Given the description of an element on the screen output the (x, y) to click on. 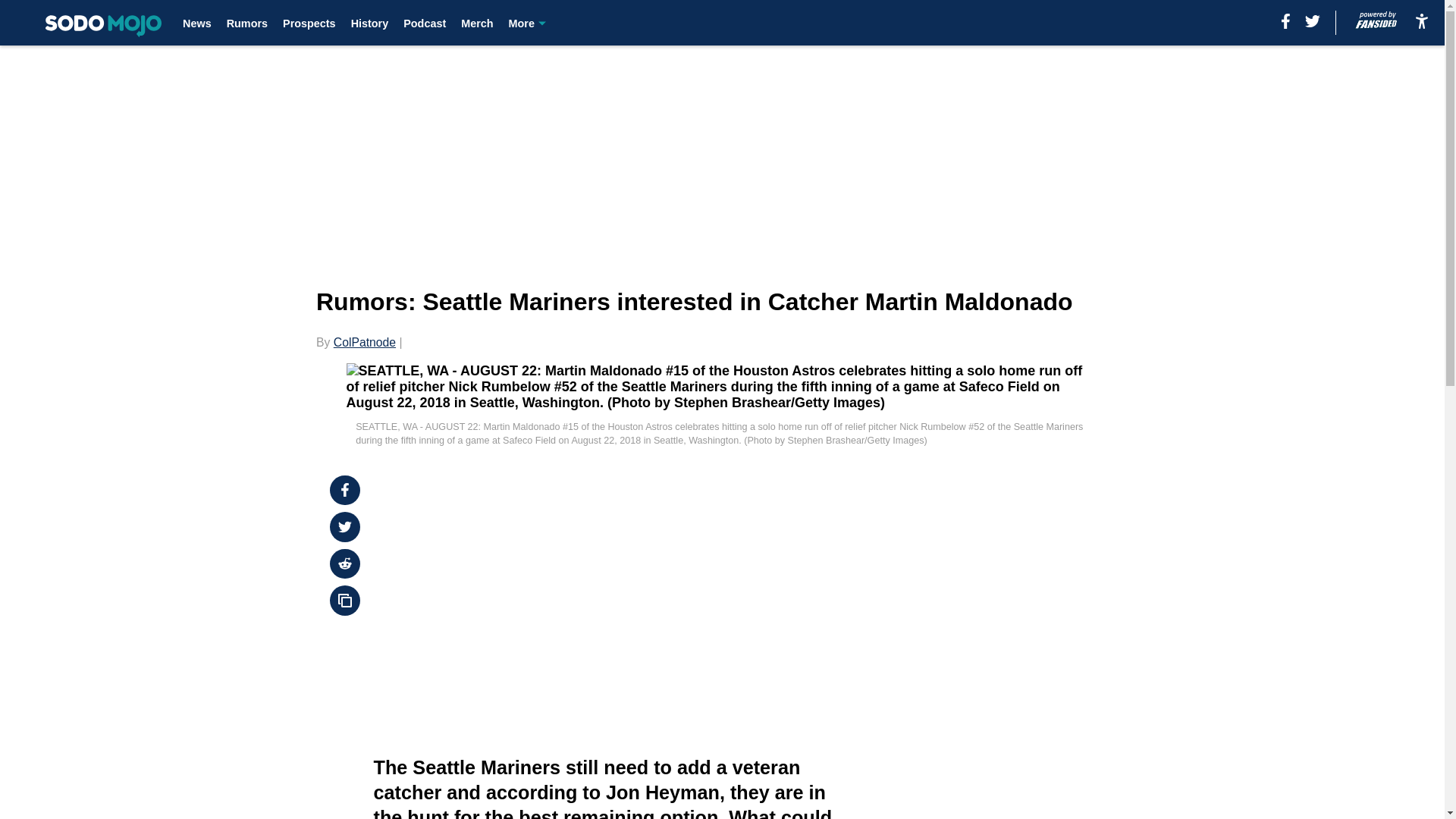
Prospects (309, 23)
ColPatnode (364, 341)
Podcast (424, 23)
Rumors (247, 23)
Merch (477, 23)
History (369, 23)
News (197, 23)
